Given the description of an element on the screen output the (x, y) to click on. 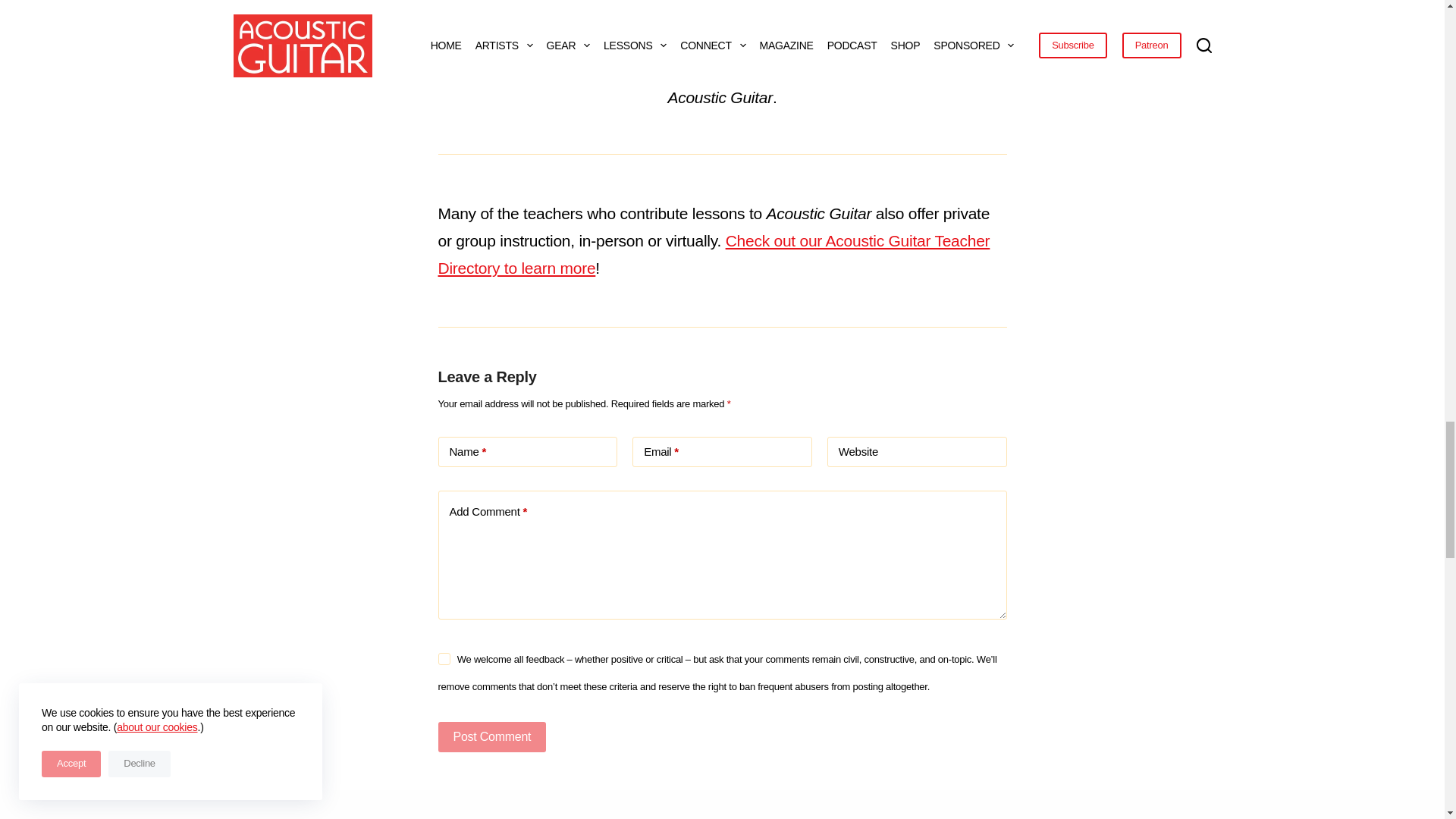
on (443, 658)
